Given the description of an element on the screen output the (x, y) to click on. 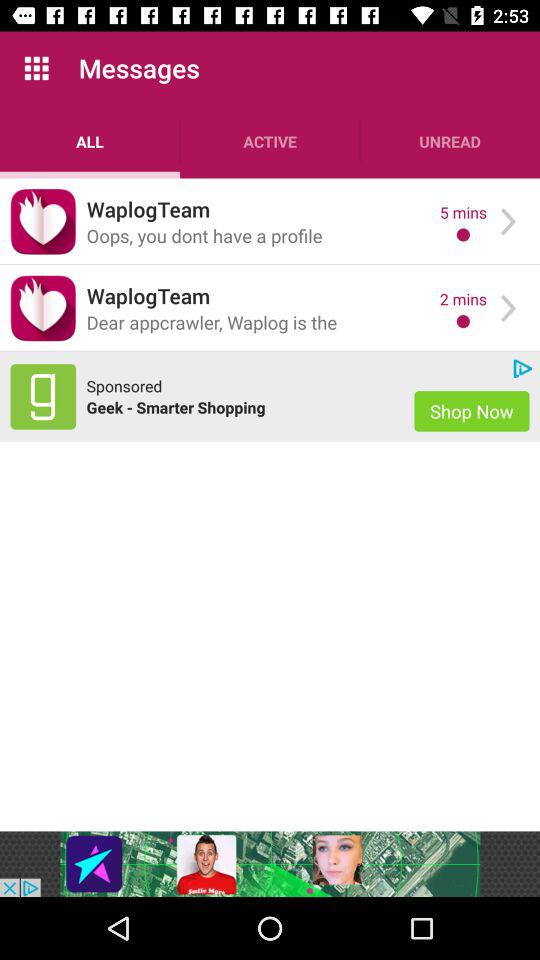
click on the image which is beside the text waplog team (43, 222)
click on the first arrow (508, 221)
click on the shop now at the tight of the page (471, 411)
